Given the description of an element on the screen output the (x, y) to click on. 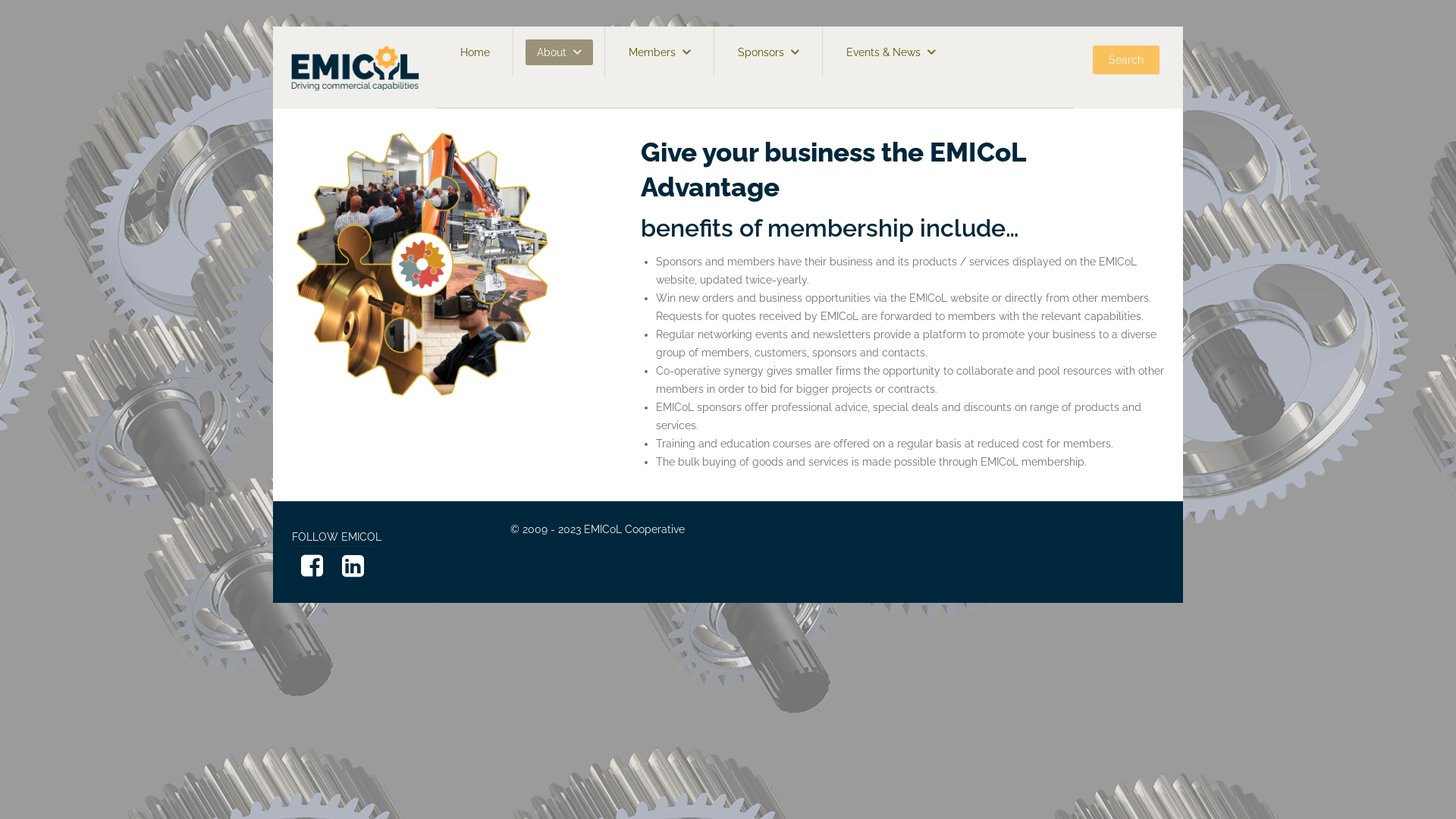
Search Element type: text (1125, 59)
EMICoL - Driving commercial capabilities Element type: hover (354, 67)
Home Element type: text (474, 51)
